Given the description of an element on the screen output the (x, y) to click on. 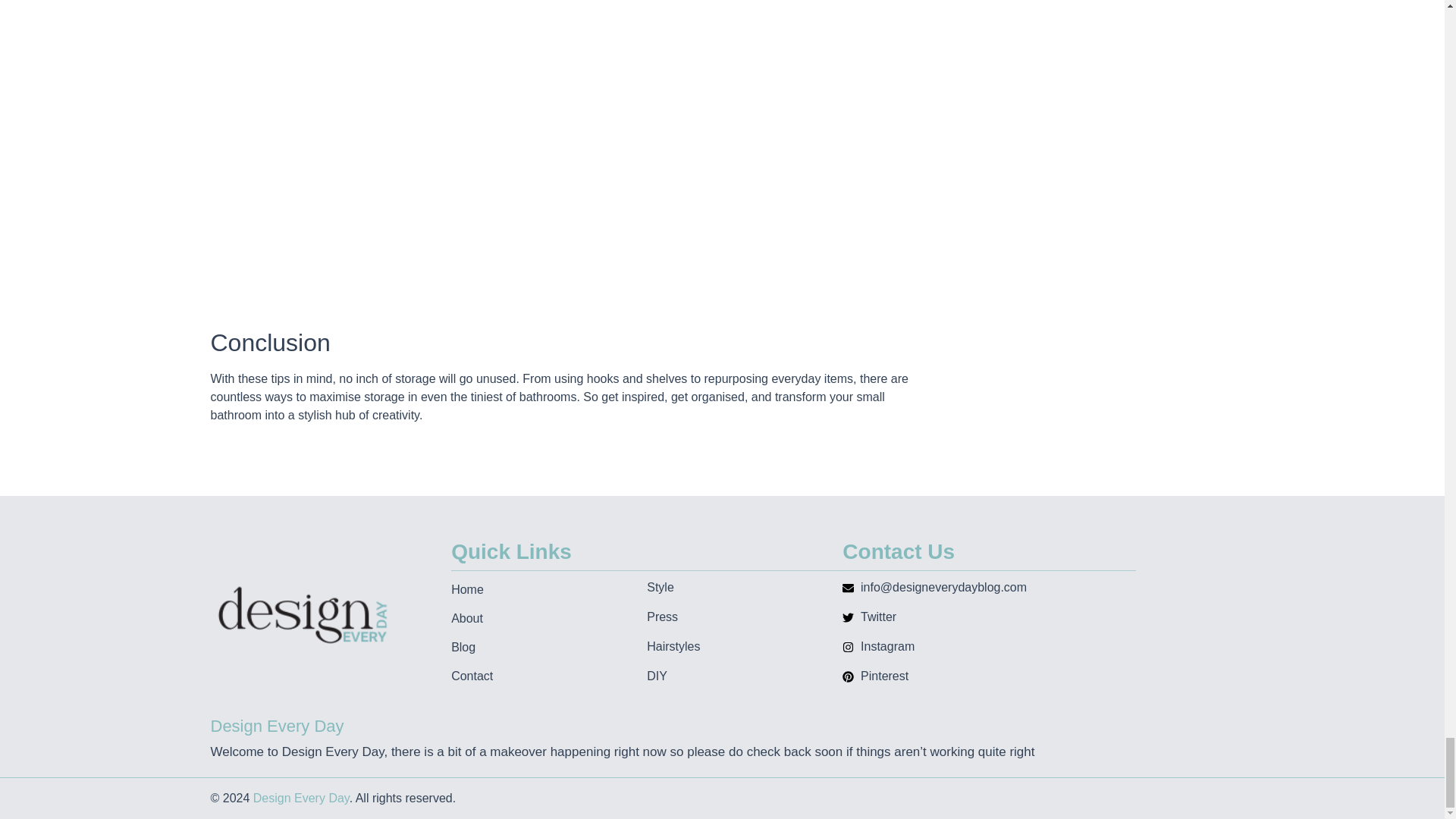
Home (548, 589)
Blog (548, 647)
Contact (548, 676)
About (548, 618)
